Given the description of an element on the screen output the (x, y) to click on. 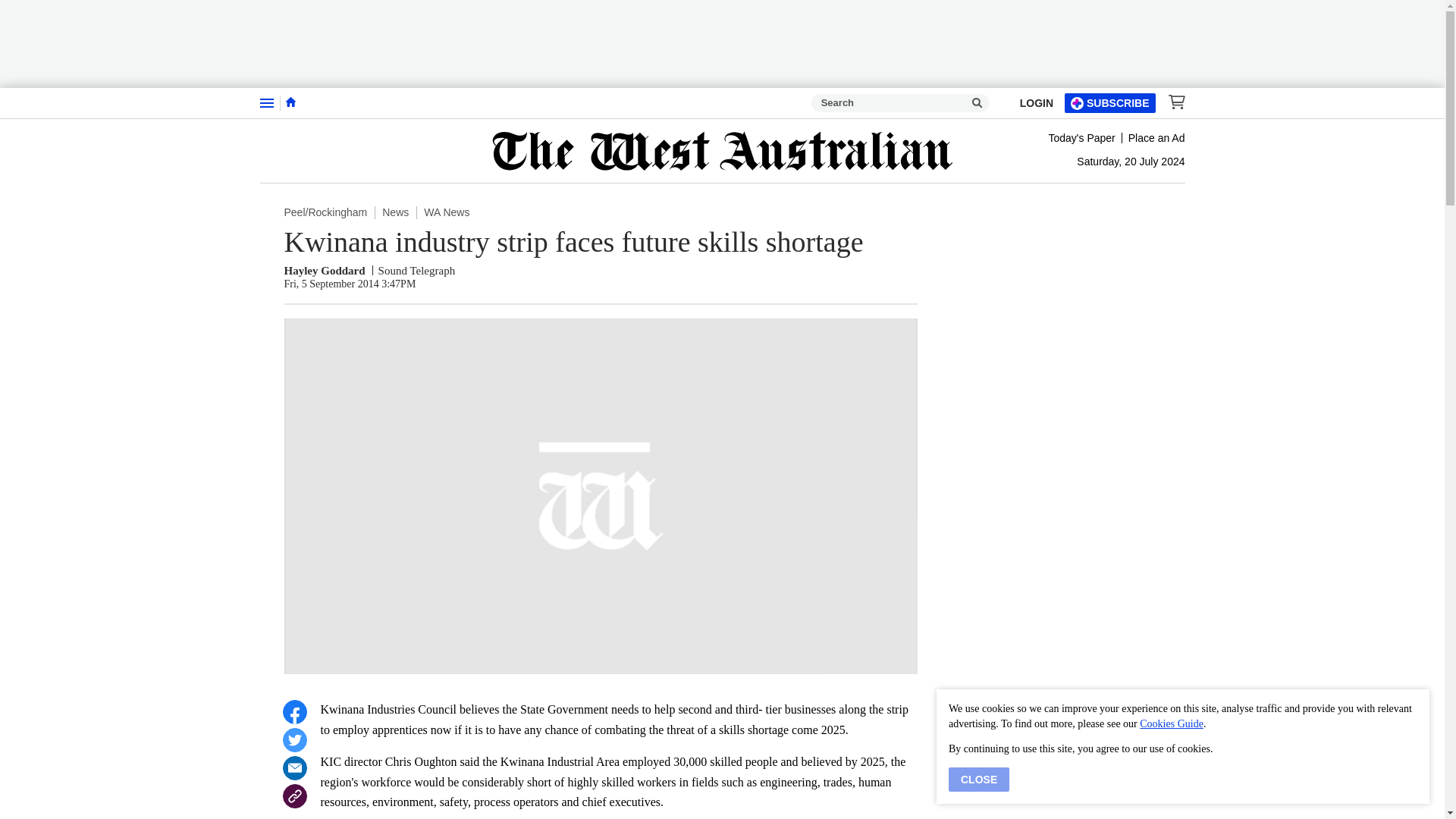
Home (290, 102)
Empty Cart Icon (1172, 102)
Please enter a search term. (977, 102)
